Given the description of an element on the screen output the (x, y) to click on. 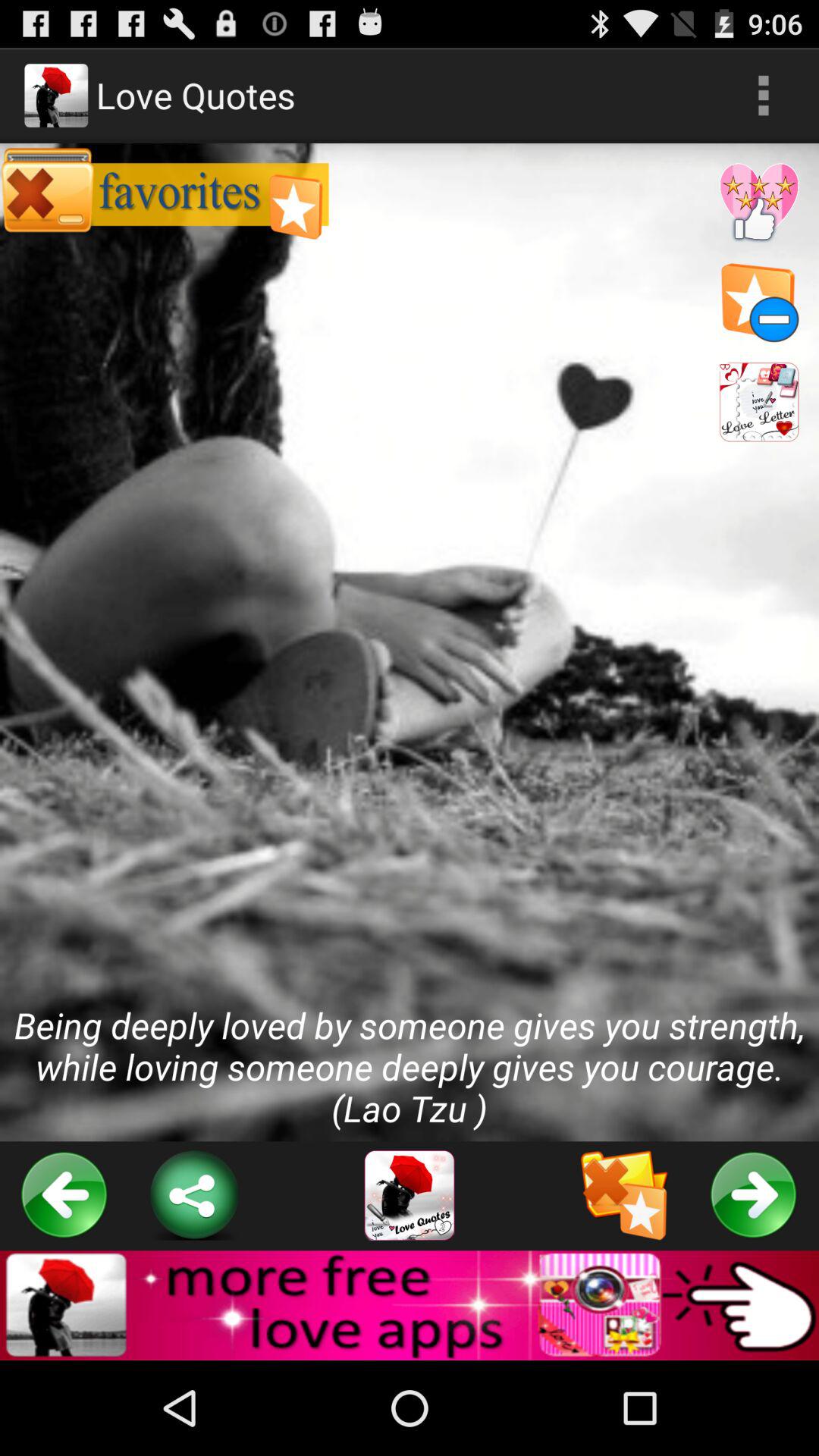
swipe to being deeply loved (409, 642)
